Given the description of an element on the screen output the (x, y) to click on. 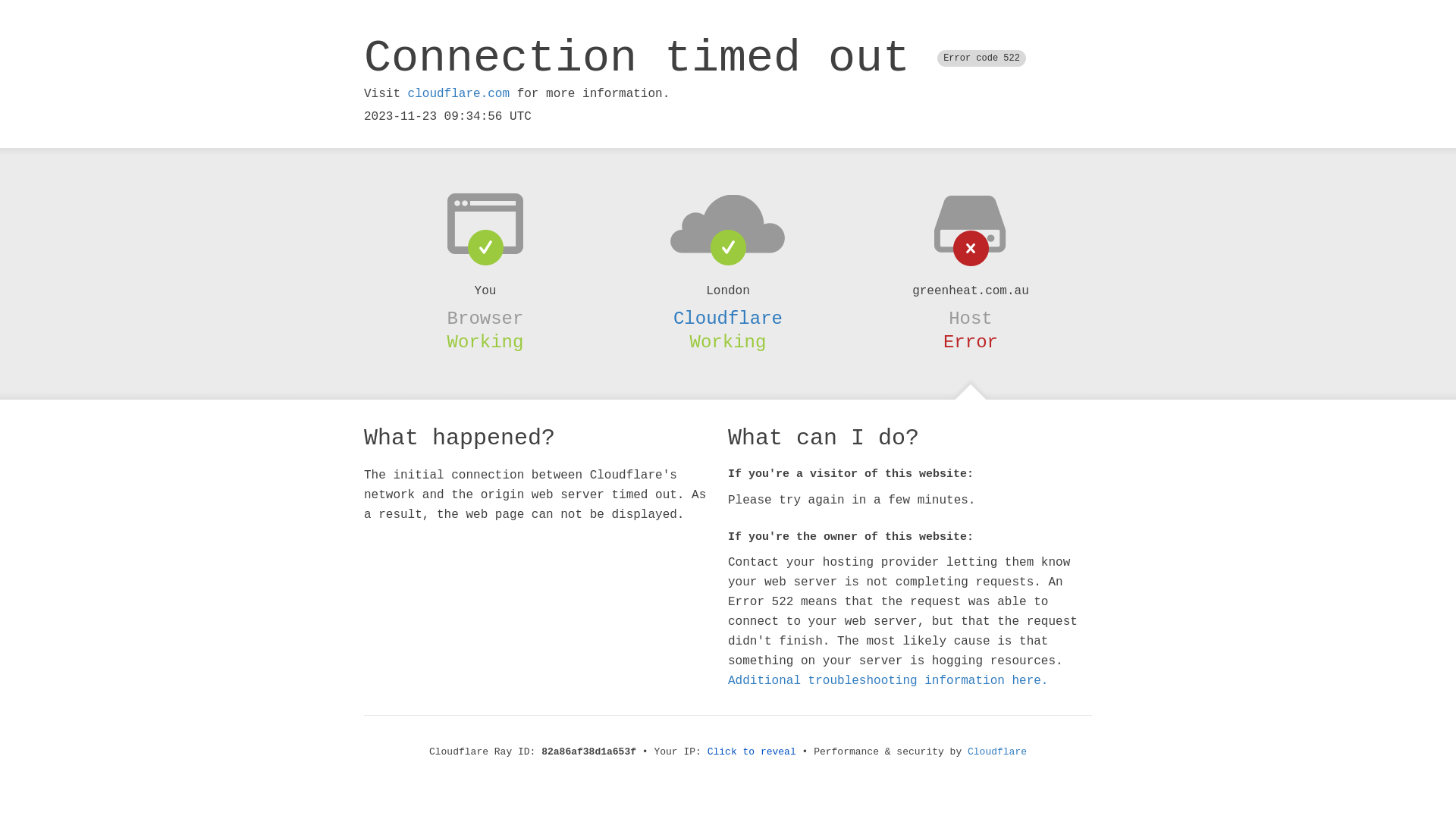
Additional troubleshooting information here. Element type: text (888, 680)
cloudflare.com Element type: text (458, 93)
Cloudflare Element type: text (996, 751)
Click to reveal Element type: text (751, 751)
Cloudflare Element type: text (727, 318)
